Given the description of an element on the screen output the (x, y) to click on. 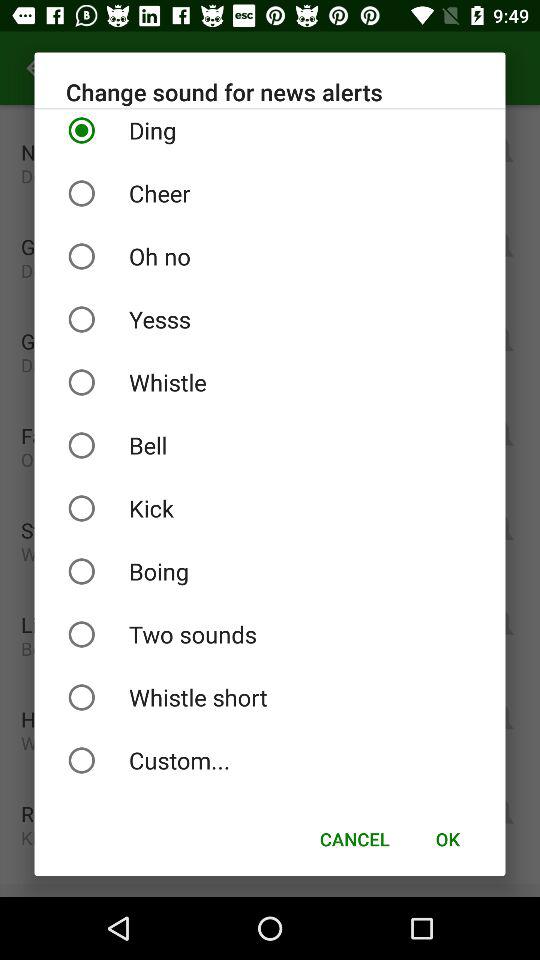
open the icon next to cancel item (447, 838)
